Given the description of an element on the screen output the (x, y) to click on. 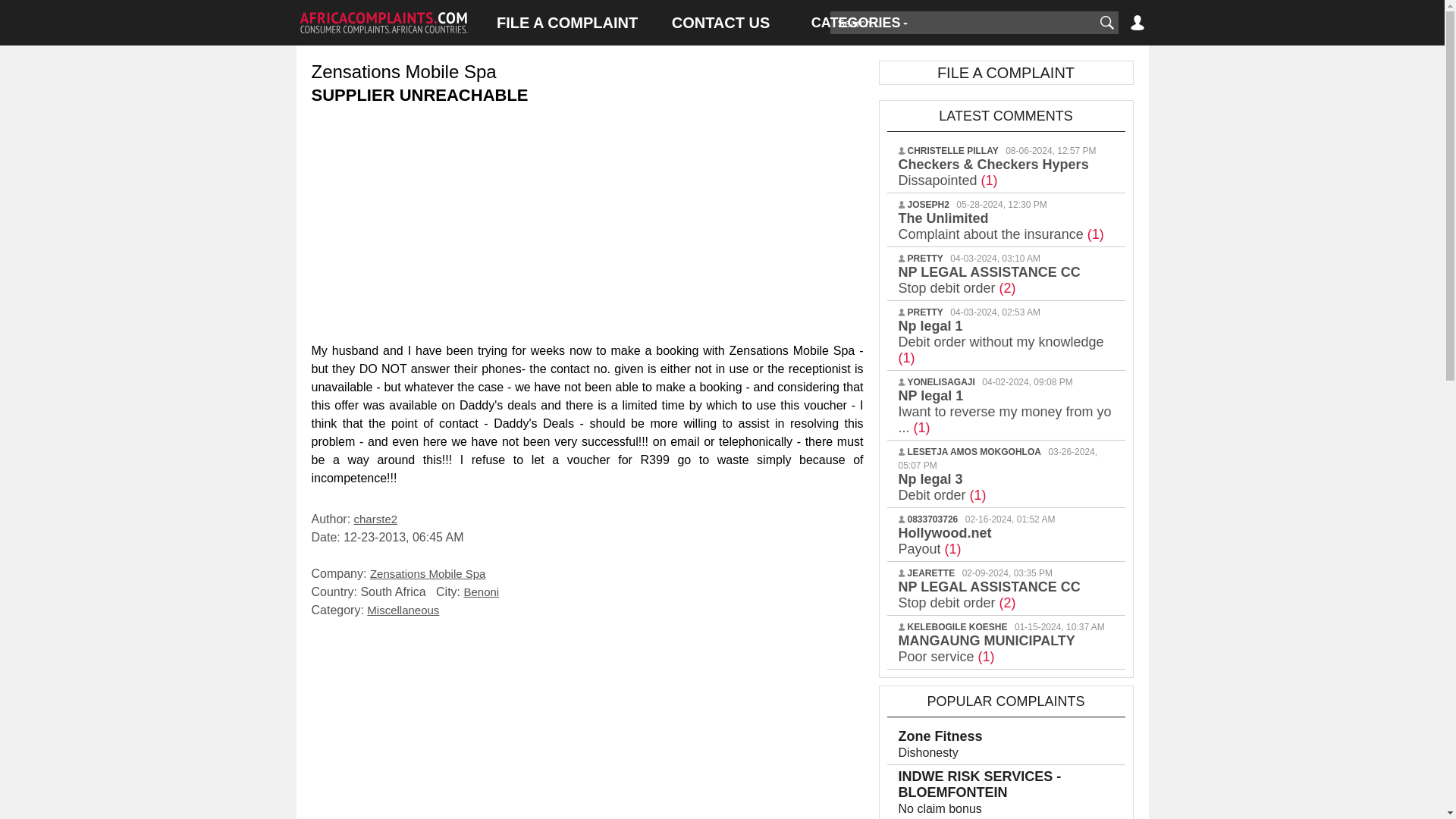
Advertisement (587, 220)
Search... (961, 22)
Find (1106, 22)
FILE A COMPLAINT (566, 22)
NP LEGAL ASSISTANCE CC - Stop debit order (989, 594)
Np legal 3 - Debit order (941, 486)
Np legal 1 - Debit order without my knowledge (1000, 341)
MANGAUNG MUNICIPALTY - Poor service (986, 648)
Advertisement (587, 723)
